Given the description of an element on the screen output the (x, y) to click on. 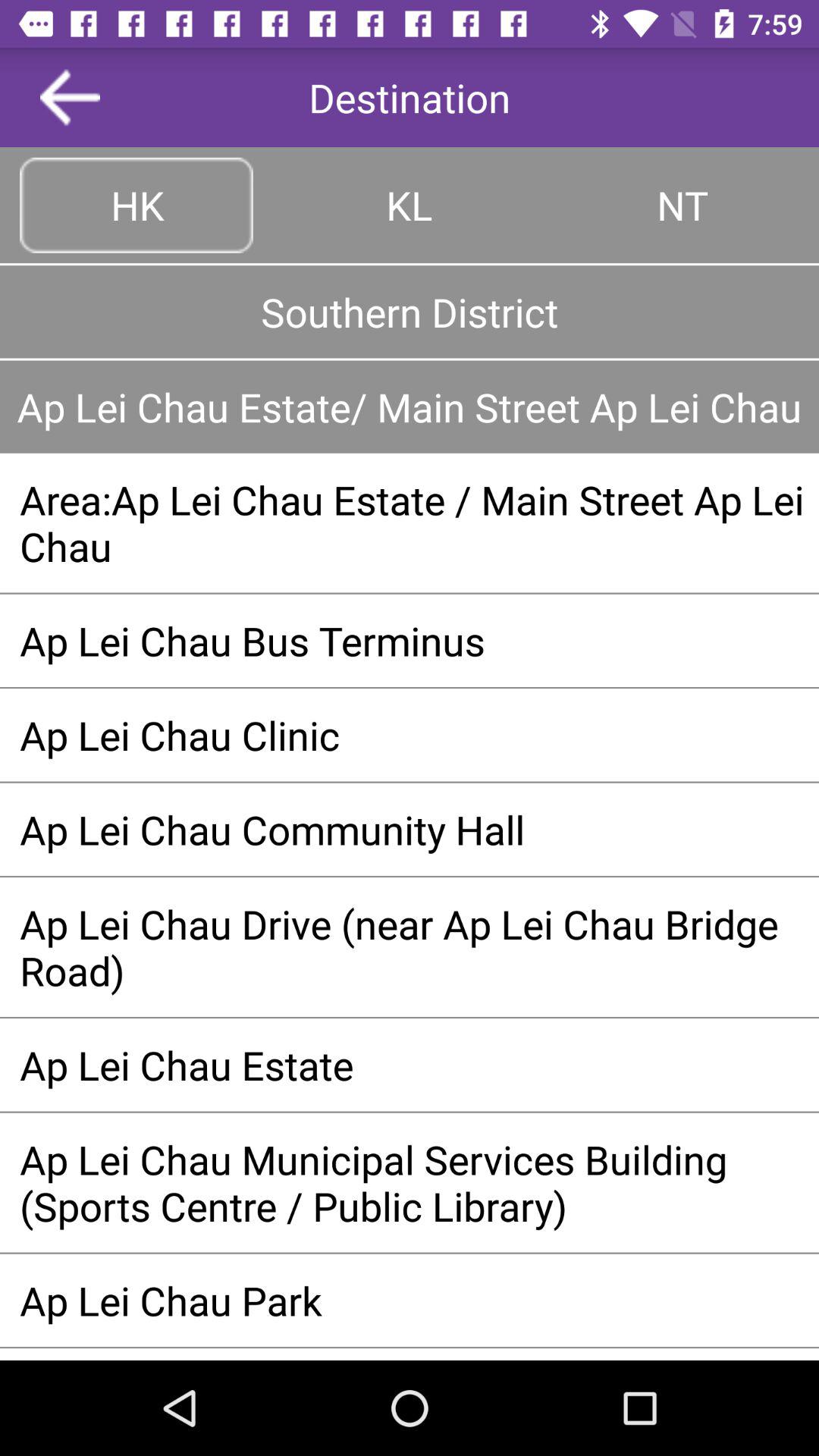
launch hk button (136, 205)
